Given the description of an element on the screen output the (x, y) to click on. 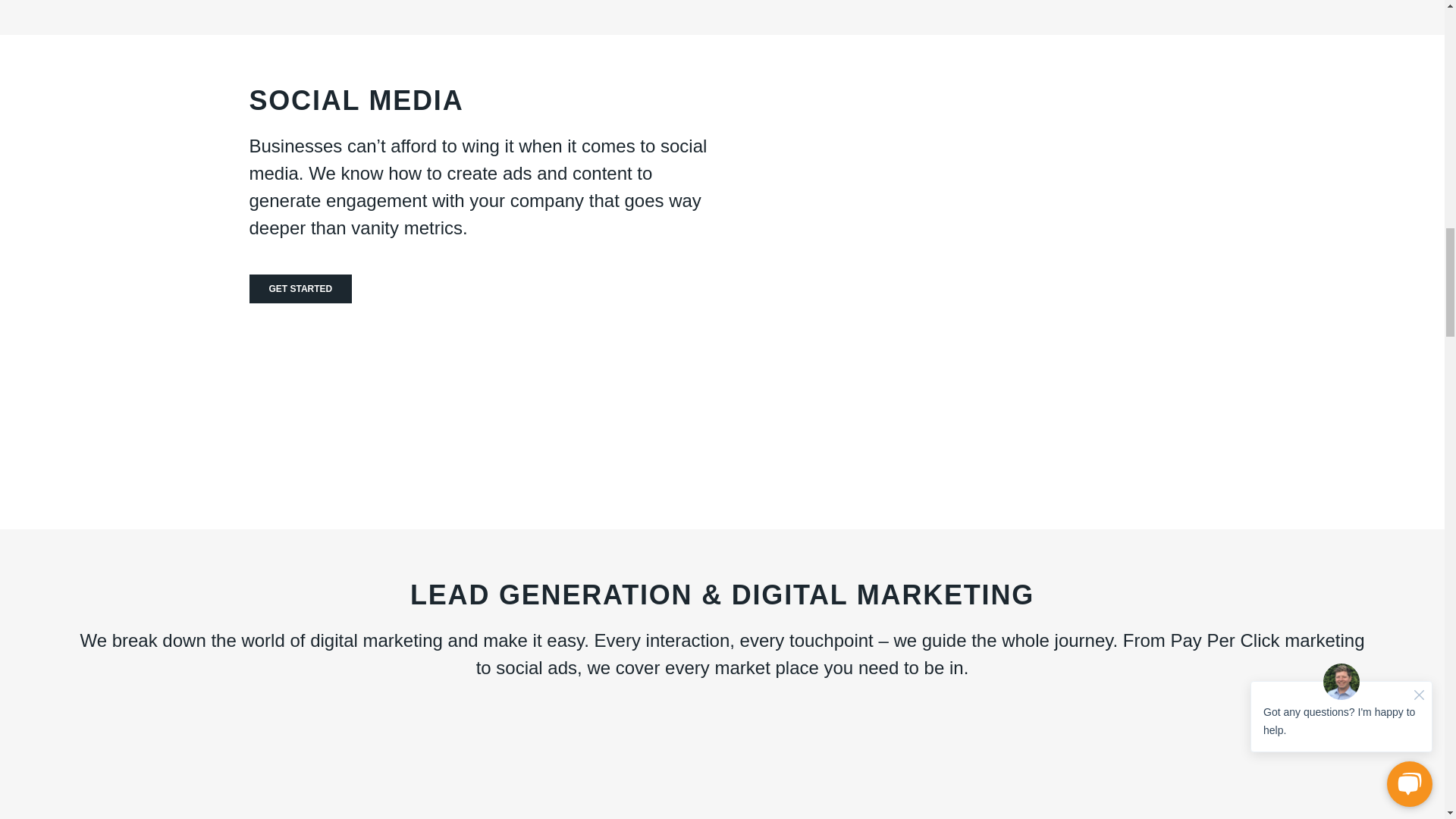
GET STARTED (300, 288)
